Given the description of an element on the screen output the (x, y) to click on. 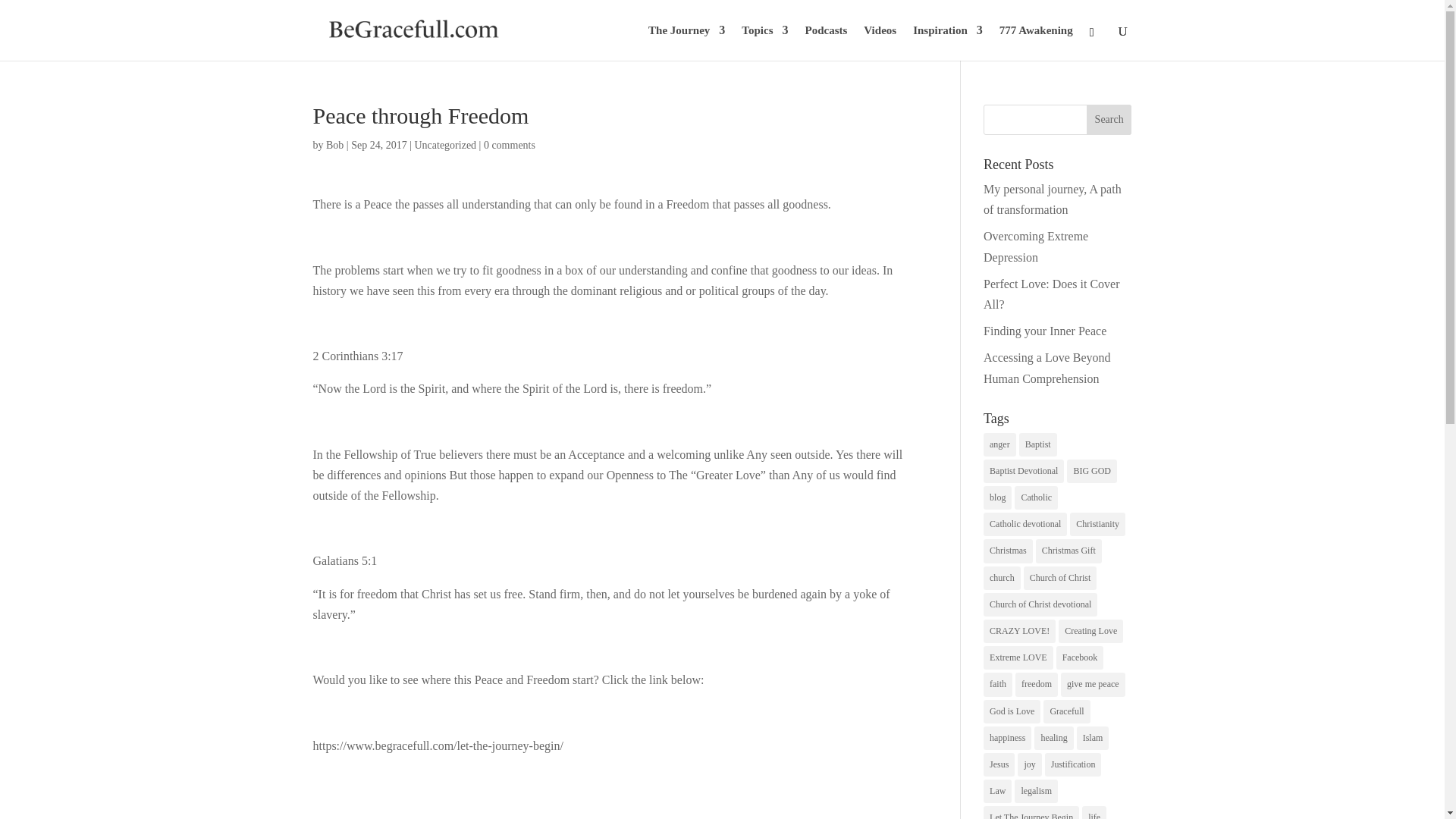
Posts by Bob (334, 144)
Overcoming Extreme Depression (1035, 246)
Inspiration (947, 42)
777 Awakening (1035, 42)
anger (1000, 444)
Finding your Inner Peace (1045, 330)
Topics (764, 42)
Podcasts (826, 42)
Uncategorized (444, 144)
The Journey (686, 42)
